Given the description of an element on the screen output the (x, y) to click on. 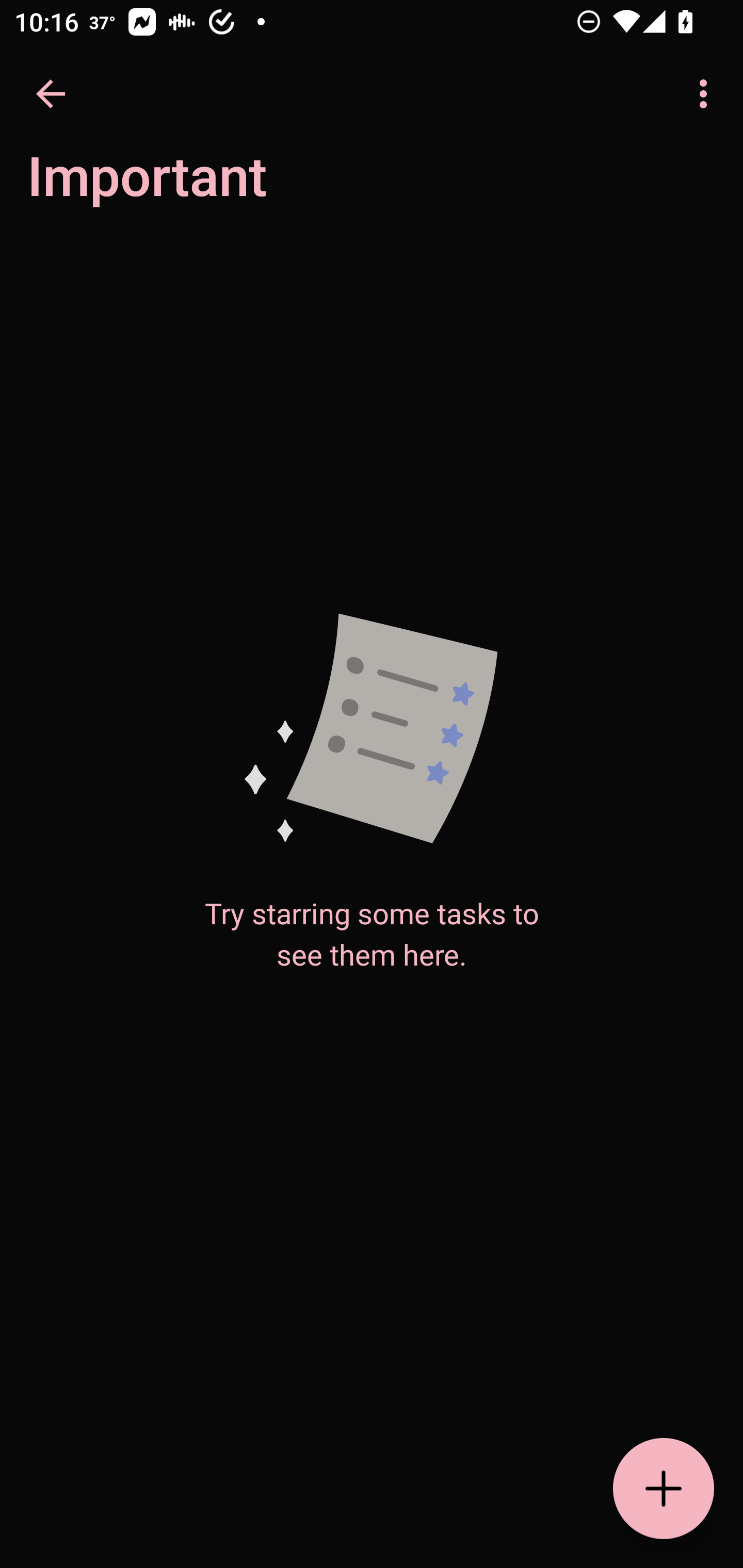
Back (50, 93)
More options (706, 93)
My Day, 0 tasks (182, 187)
Add a task (663, 1488)
